Given the description of an element on the screen output the (x, y) to click on. 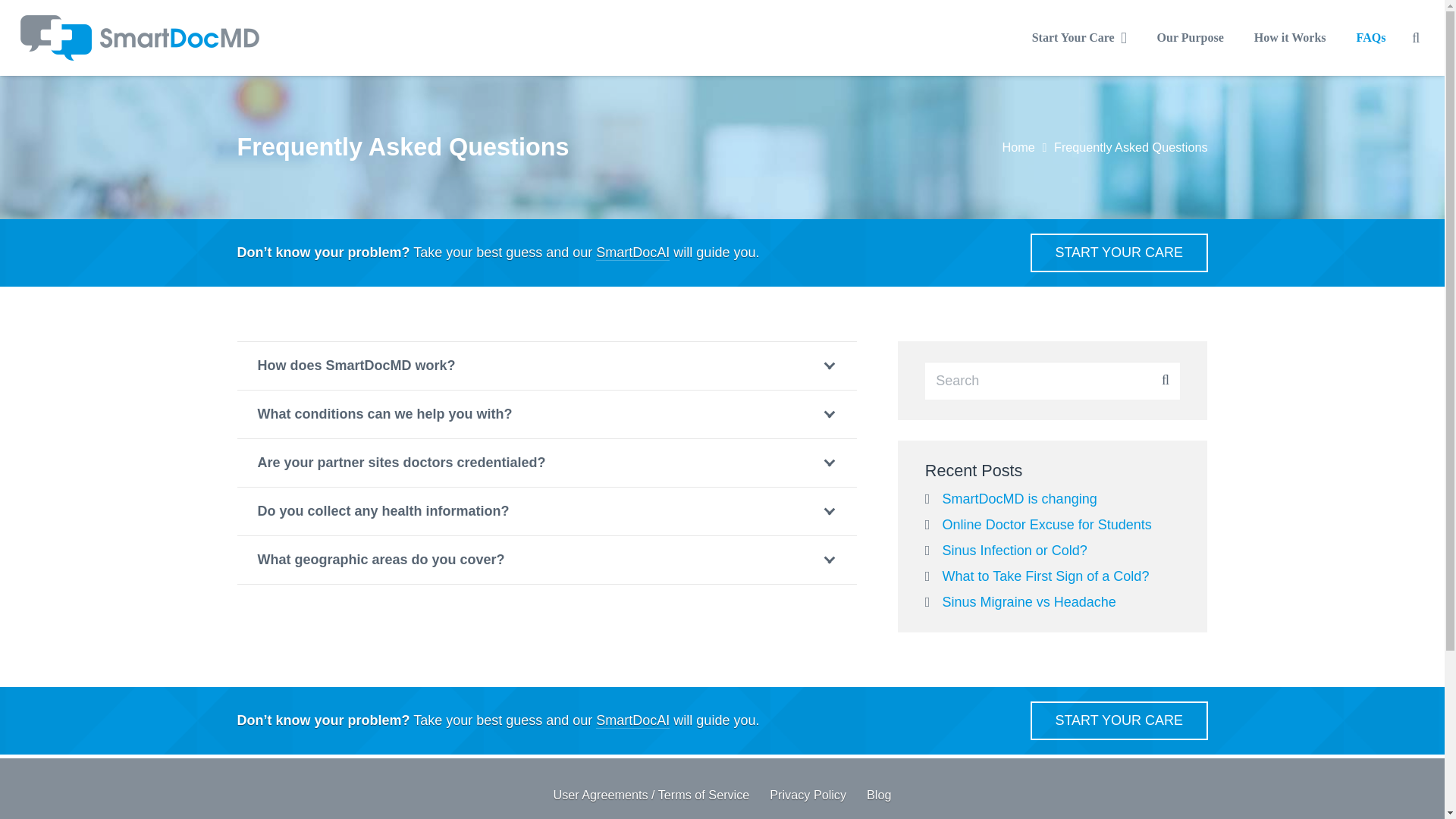
How it Works (1289, 37)
What conditions can we help you with? (545, 414)
FAQs (1370, 37)
Start Your Care (1119, 720)
Do you collect any health information? (545, 511)
START YOUR CARE (1119, 720)
SmartDocAI (632, 252)
Start Your Care (1119, 252)
SmartDocAI (632, 720)
Online Doctor Excuse for Students (1046, 524)
Home (1017, 146)
Privacy Policy (807, 794)
How does SmartDocMD work? (545, 365)
Sinus Infection or Cold? (1014, 549)
Our Purpose (1190, 37)
